Given the description of an element on the screen output the (x, y) to click on. 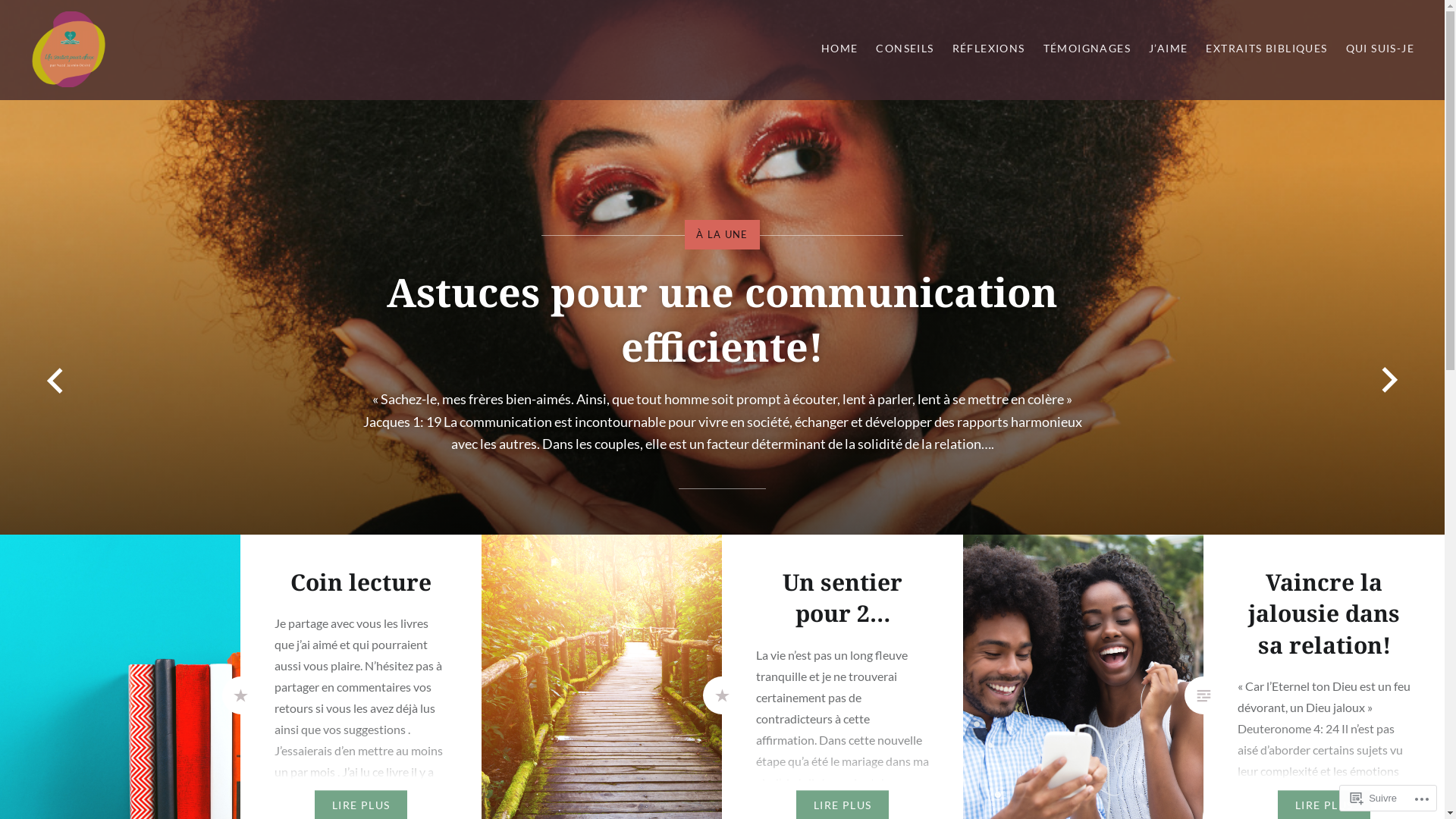
EXTRAITS BIBLIQUES Element type: text (1266, 48)
CONSEILS Element type: text (904, 48)
QUI SUIS-JE Element type: text (1380, 48)
Suivre Element type: text (1373, 797)
HOME Element type: text (839, 48)
Coin lecture Element type: text (360, 581)
Astuces pour une communication efficiente! Element type: text (721, 318)
Astuces pour une communication efficiente! Element type: hover (722, 267)
Un sentier pour deux Element type: text (152, 101)
Vaincre la jalousie dans sa relation! Element type: text (1323, 613)
